Given the description of an element on the screen output the (x, y) to click on. 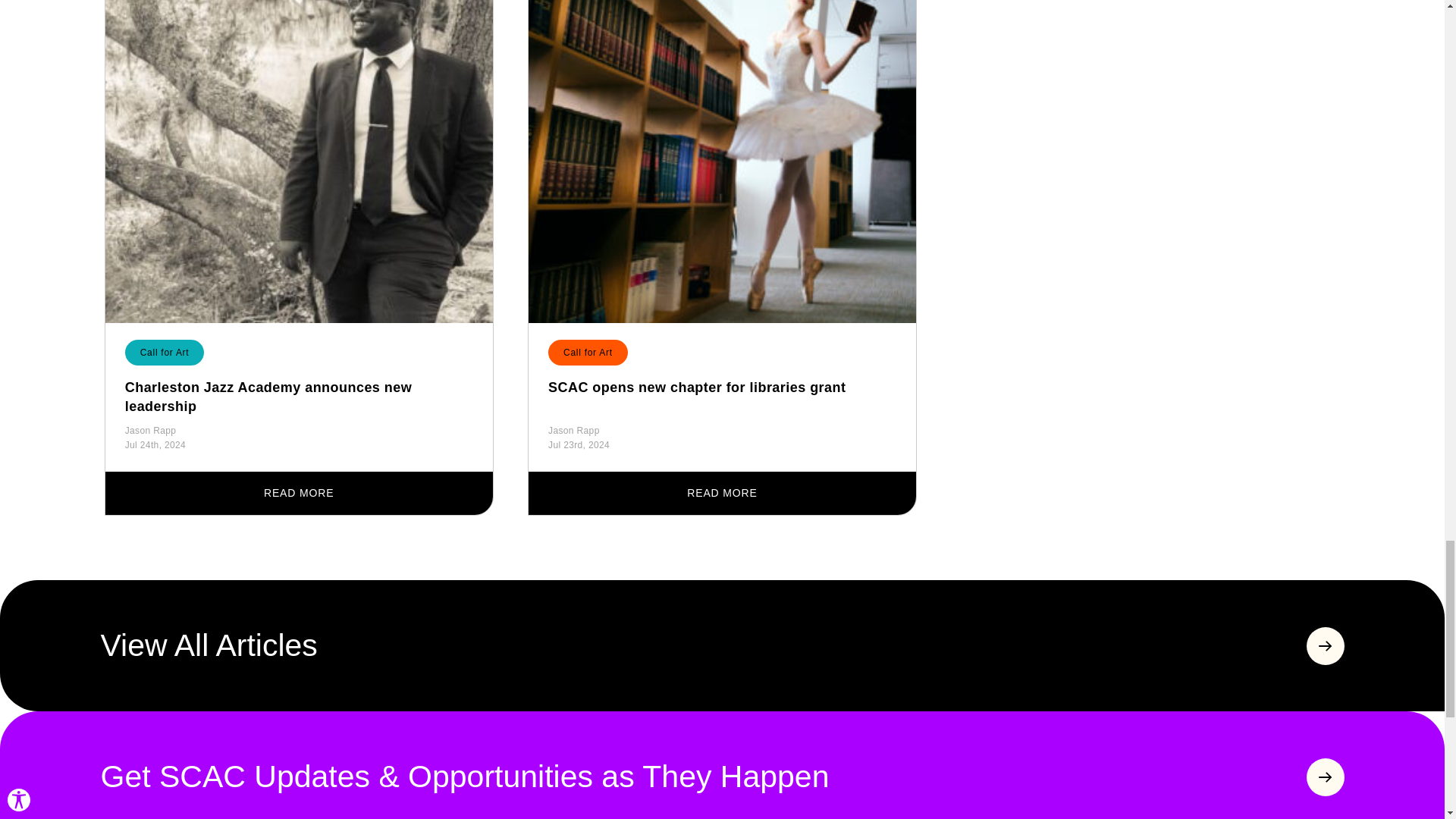
View All Articles (721, 645)
